Given the description of an element on the screen output the (x, y) to click on. 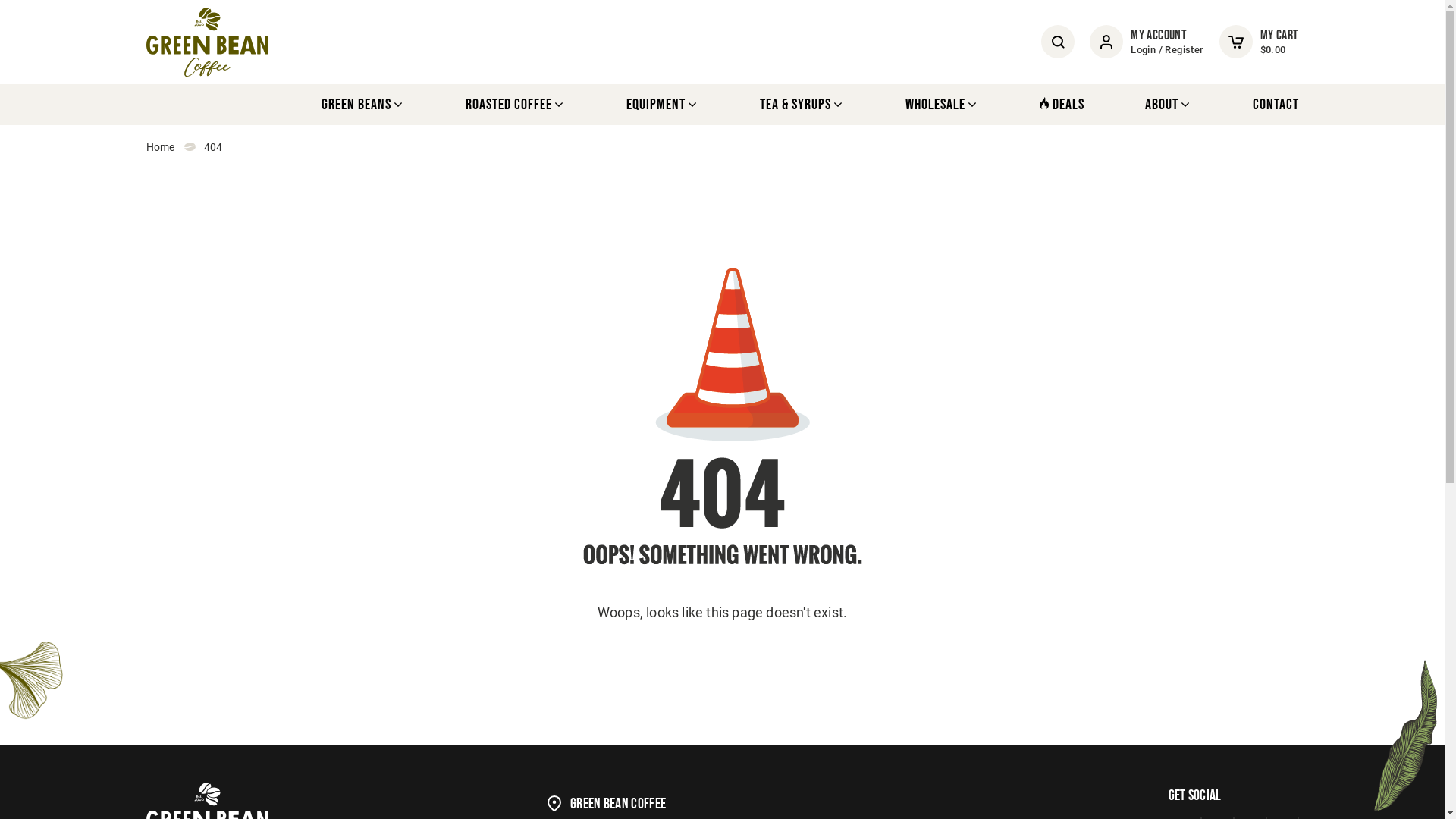
user Element type: hover (1106, 41)
search Element type: hover (1057, 41)
DEALS Element type: text (1060, 104)
deal-icon Element type: hover (1043, 103)
ABOUT Element type: text (1168, 104)
WHOLESALE Element type: text (942, 104)
404 Element type: hover (721, 412)
TEA & SYRUPS Element type: text (801, 104)
CONTACT Element type: text (1275, 104)
MY ACCOUNT
Login / Register Element type: text (1146, 41)
MY CART
$0.00 Element type: text (1259, 41)
GREEN BEANS Element type: text (362, 104)
leaf Element type: hover (1405, 735)
Home Element type: text (159, 146)
map-pin Element type: hover (554, 803)
EQUIPMENT Element type: text (662, 104)
ROASTED COFFEE Element type: text (515, 104)
cart Element type: hover (1235, 41)
